Given the description of an element on the screen output the (x, y) to click on. 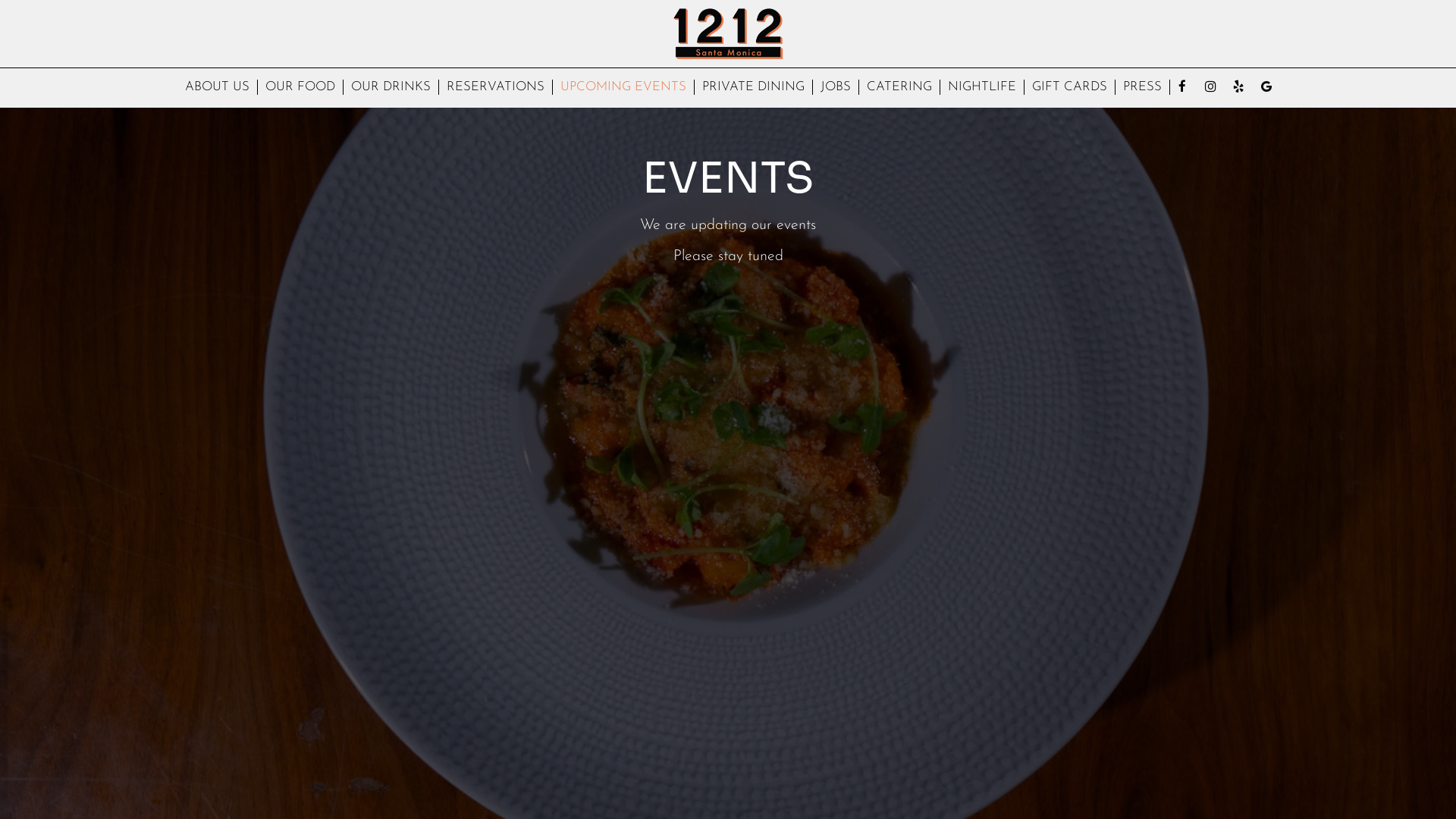
PRIVATE DINING Element type: text (753, 86)
PRESS Element type: text (1142, 86)
UPCOMING EVENTS Element type: text (623, 86)
NIGHTLIFE Element type: text (982, 86)
JOBS Element type: text (835, 86)
OUR DRINKS Element type: text (391, 86)
CATERING Element type: text (899, 86)
RESERVATIONS Element type: text (495, 86)
OUR FOOD Element type: text (300, 86)
GIFT CARDS Element type: text (1069, 86)
ABOUT US Element type: text (217, 86)
